Given the description of an element on the screen output the (x, y) to click on. 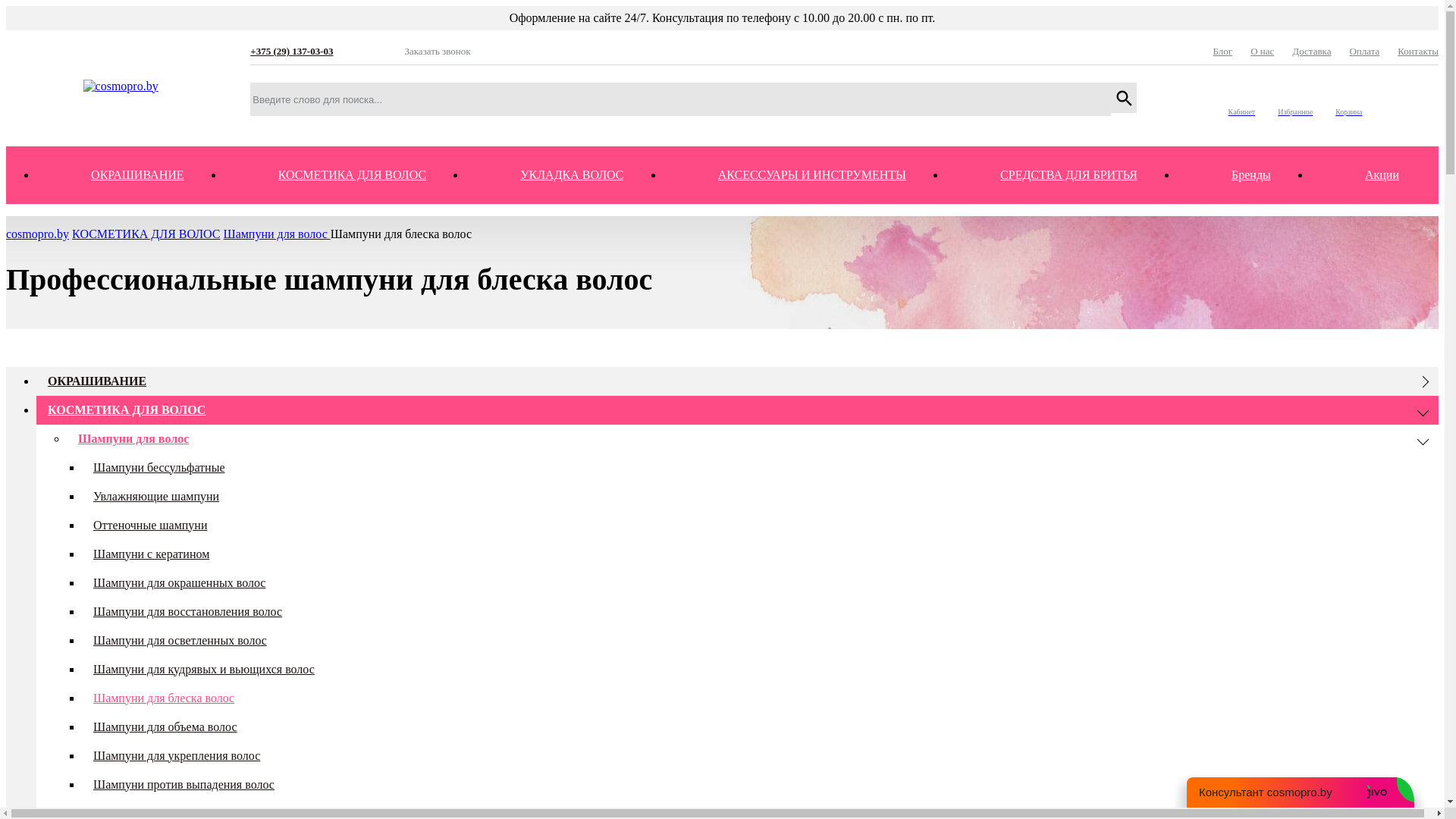
cosmopro.by Element type: hover (120, 85)
+375 (29) 137-03-03 Element type: text (317, 50)
cosmopro.by Element type: text (37, 233)
